Given the description of an element on the screen output the (x, y) to click on. 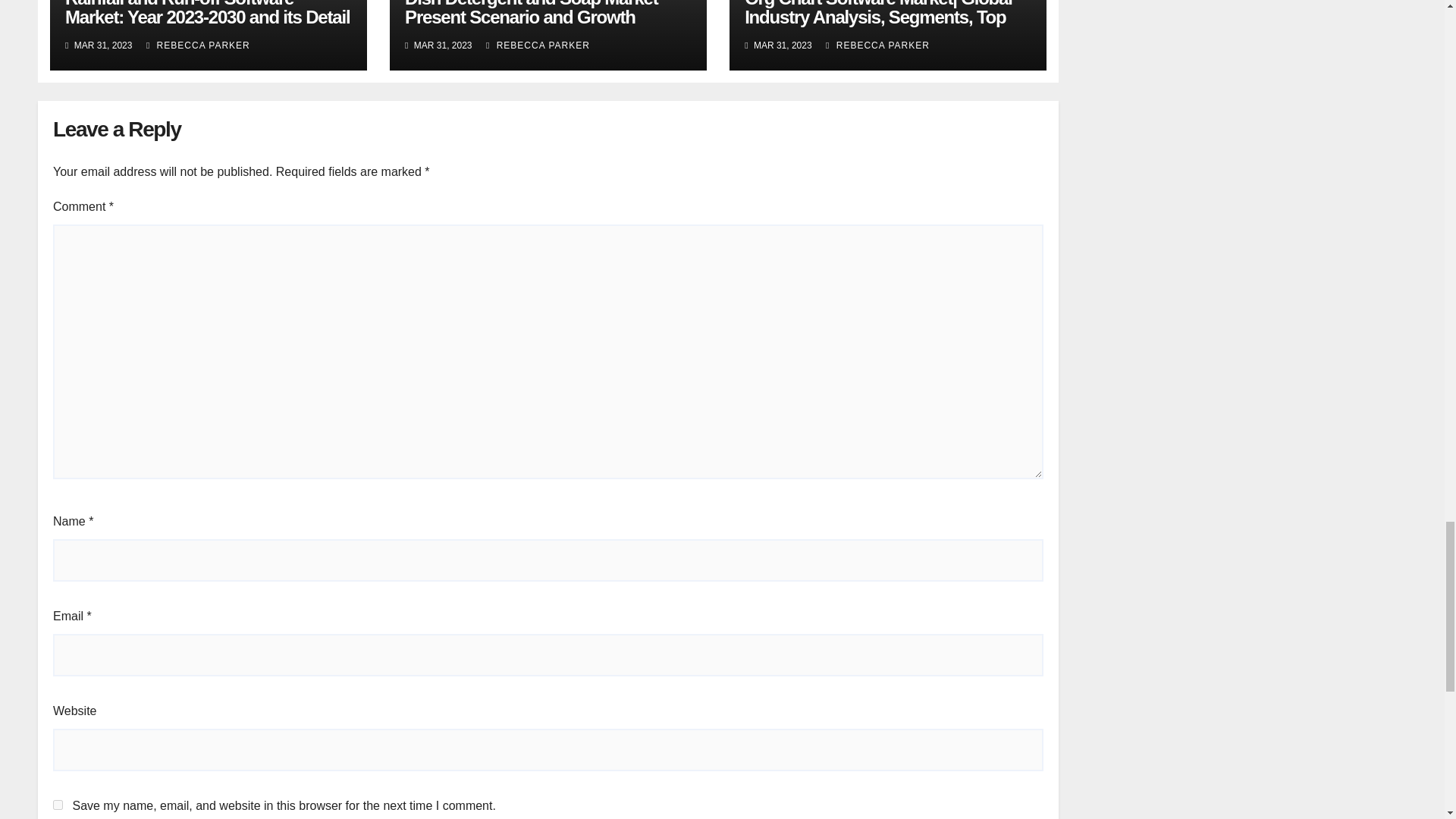
yes (57, 804)
REBECCA PARKER (198, 45)
